Given the description of an element on the screen output the (x, y) to click on. 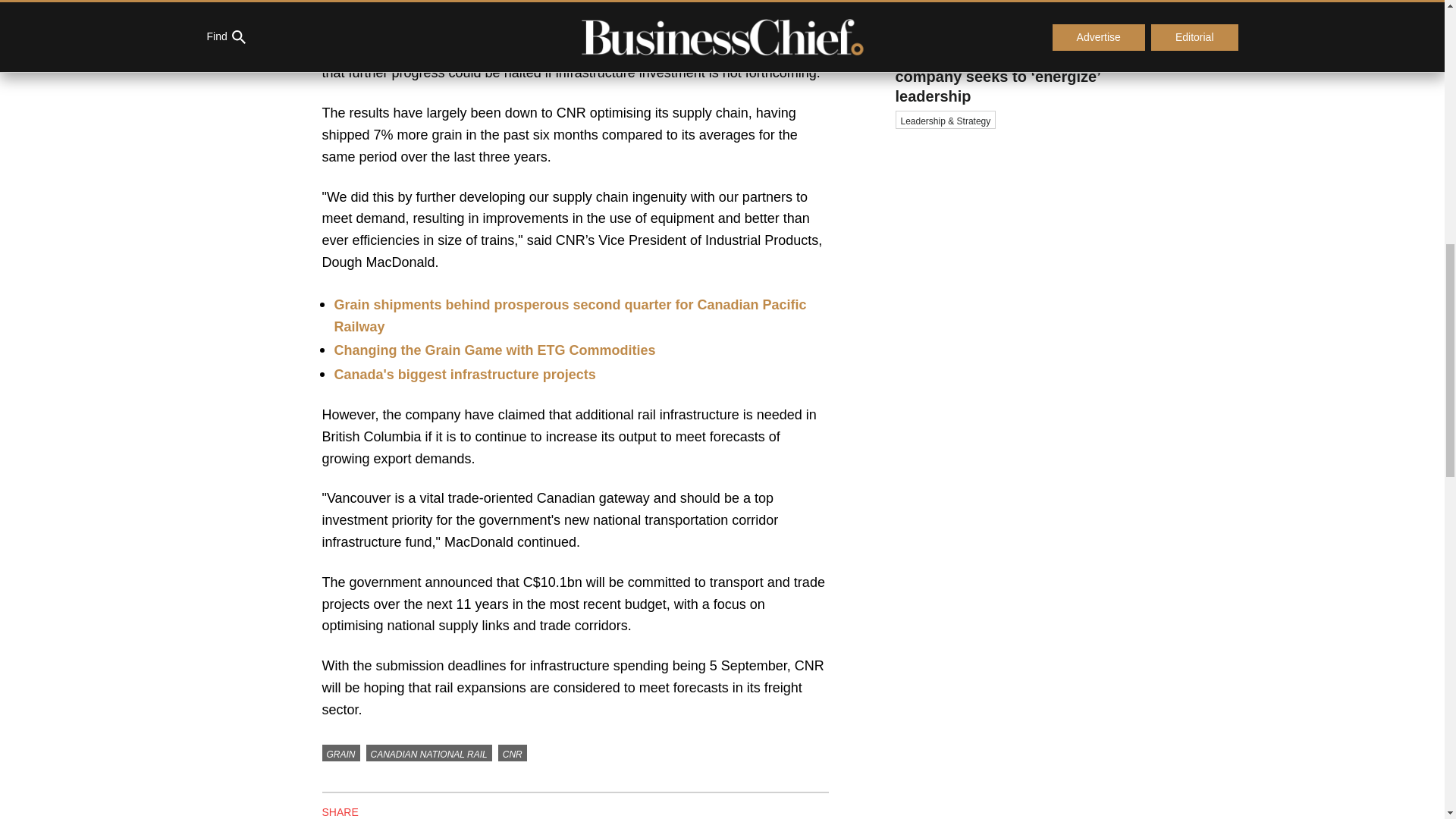
CNR (512, 752)
Changing the Grain Game with ETG Commodities (494, 350)
GRAIN (340, 752)
CANADIAN NATIONAL RAIL (429, 752)
Canada's biggest infrastructure projects (464, 374)
